Given the description of an element on the screen output the (x, y) to click on. 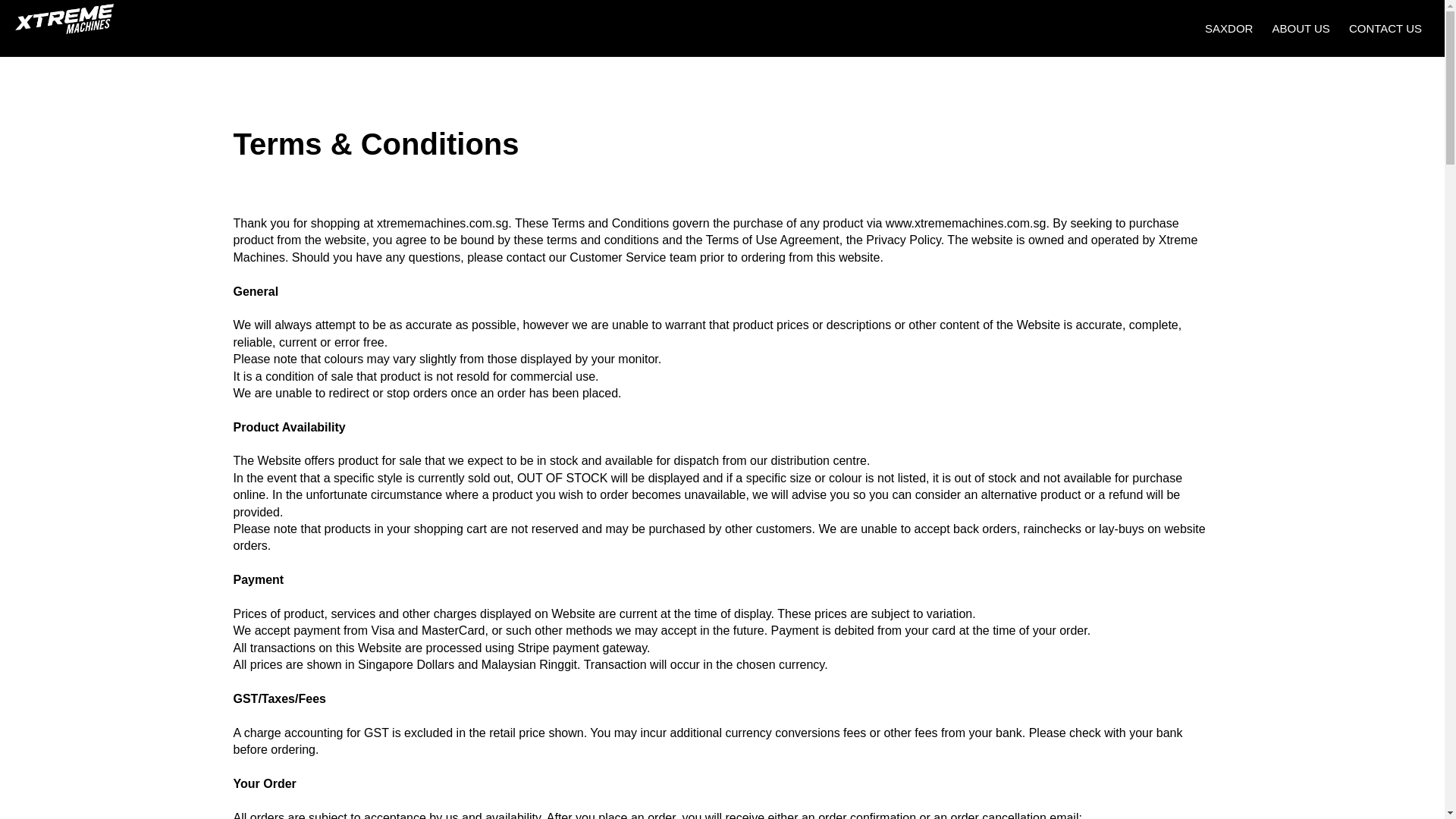
ABOUT US (1300, 28)
CONTACT US (1385, 28)
SAXDOR (1228, 28)
